Given the description of an element on the screen output the (x, y) to click on. 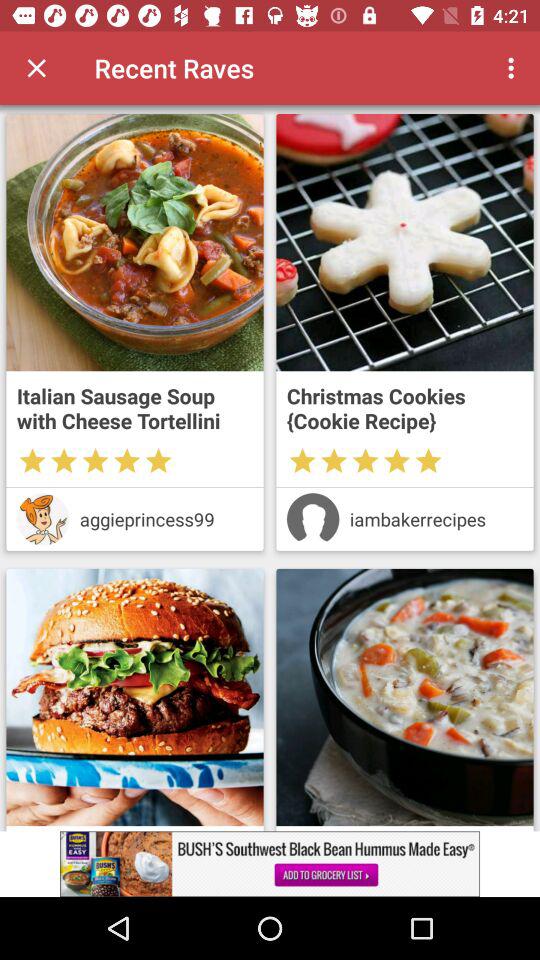
open recipe (134, 242)
